Given the description of an element on the screen output the (x, y) to click on. 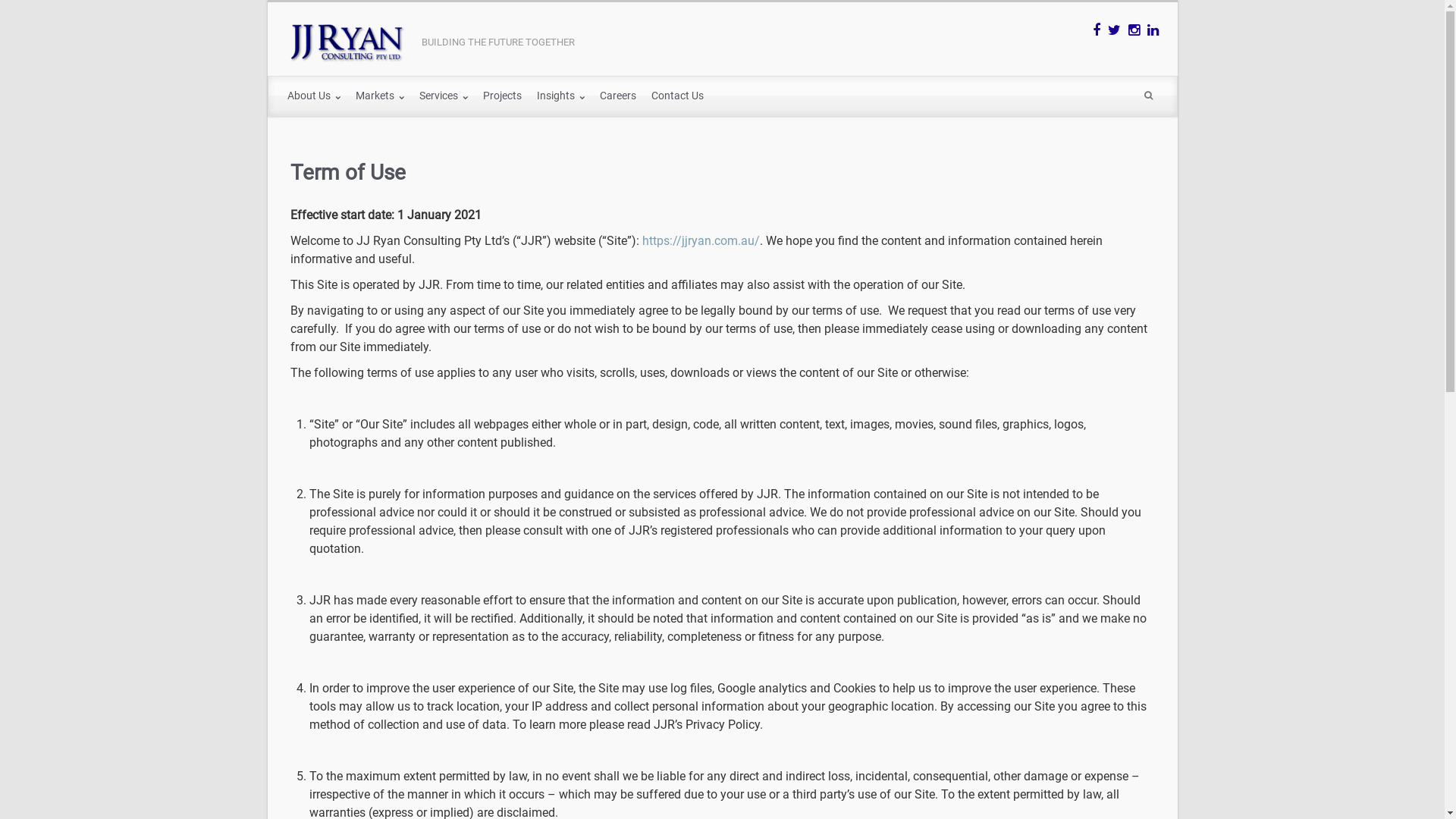
Insights Element type: text (560, 96)
About Us Element type: text (313, 96)
Contact Us Element type: text (676, 96)
Projects Element type: text (501, 96)
https://jjryan.com.au/ Element type: text (700, 240)
Services Element type: text (442, 96)
Markets Element type: text (379, 96)
Careers Element type: text (617, 96)
